Given the description of an element on the screen output the (x, y) to click on. 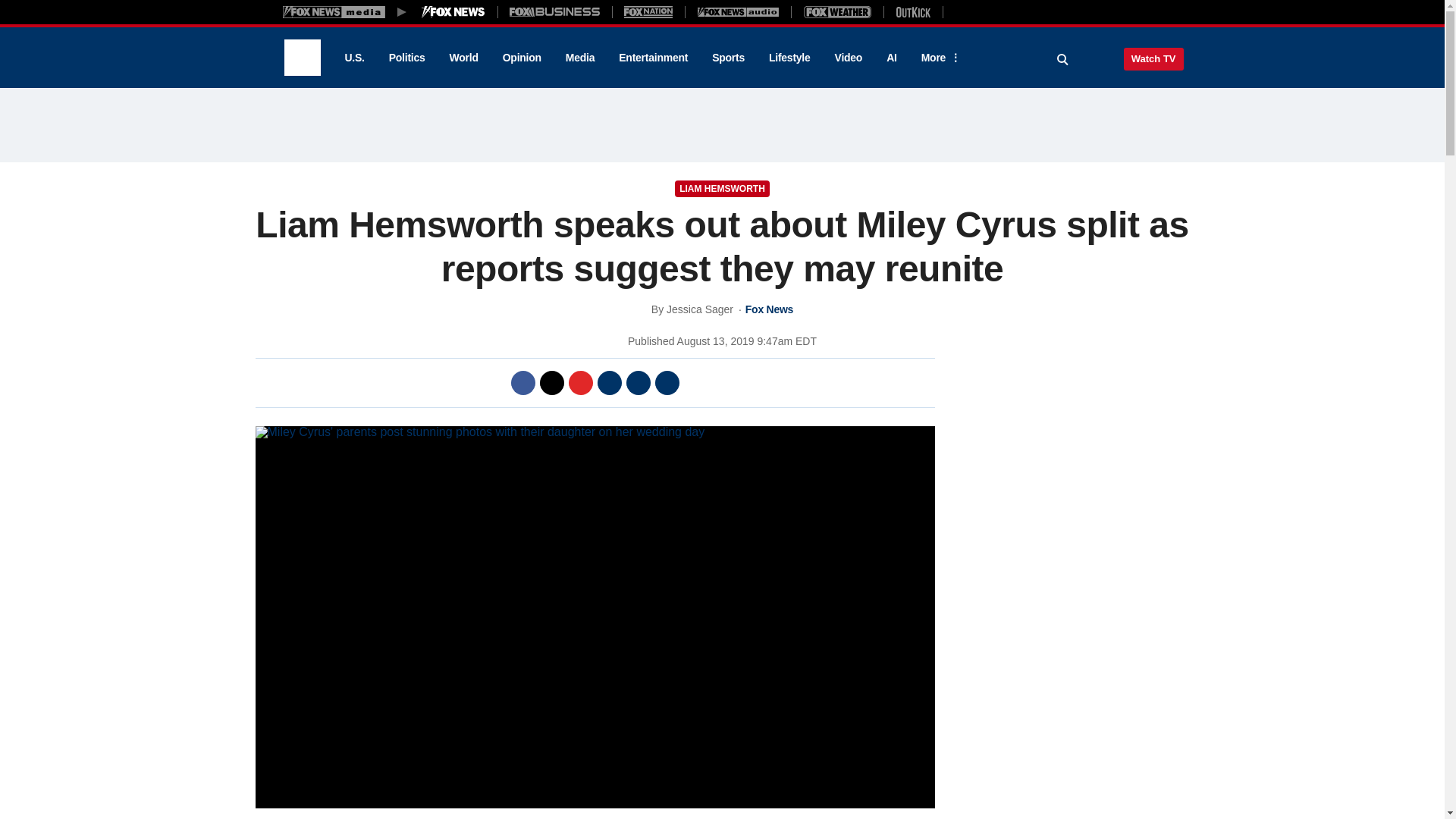
Fox Weather (836, 11)
Lifestyle (789, 57)
Fox News (301, 57)
Watch TV (1153, 58)
Politics (407, 57)
More (938, 57)
Entertainment (653, 57)
Books (1007, 11)
Opinion (521, 57)
Video (848, 57)
